Given the description of an element on the screen output the (x, y) to click on. 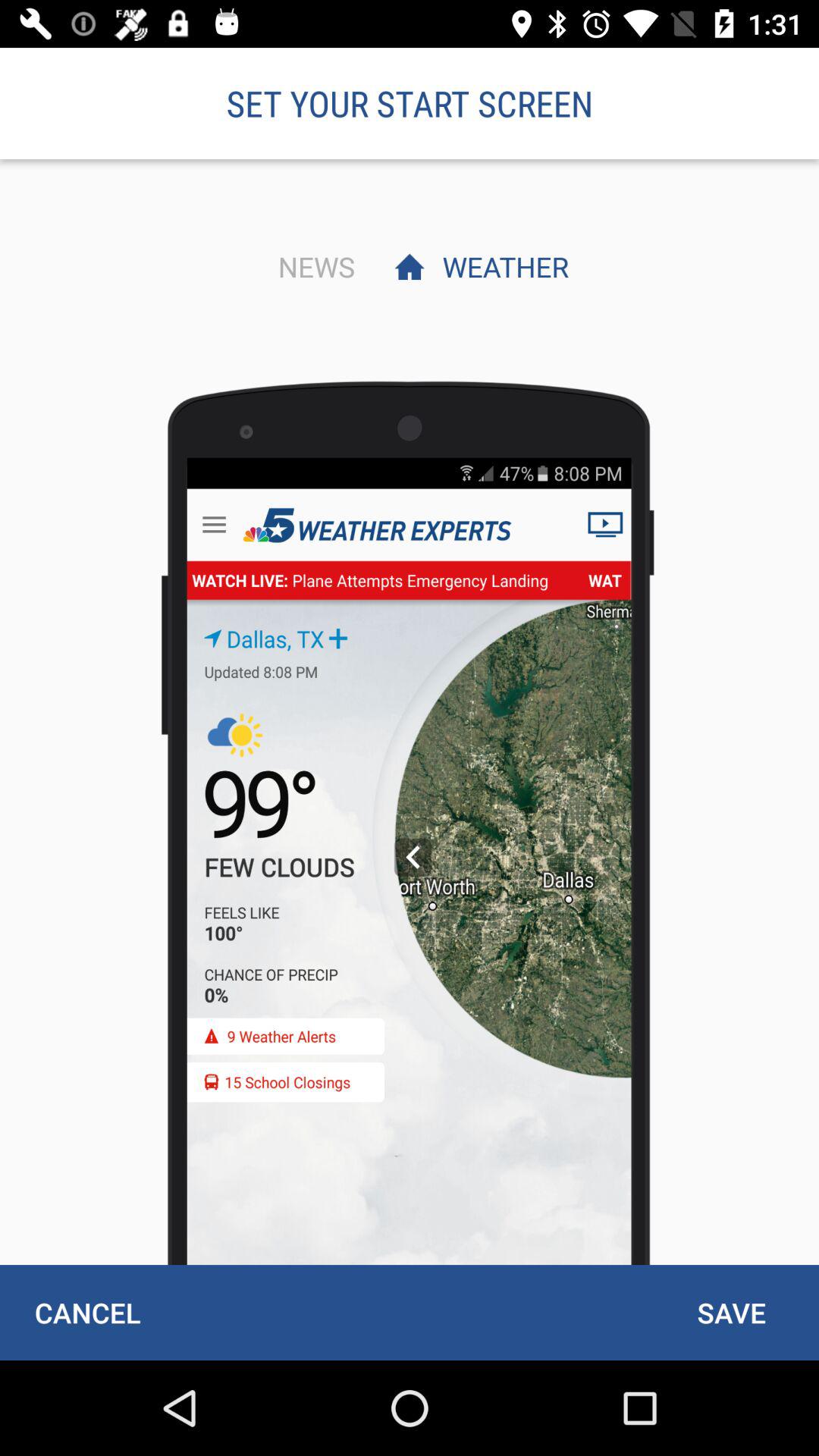
turn off the item at the bottom left corner (87, 1312)
